Given the description of an element on the screen output the (x, y) to click on. 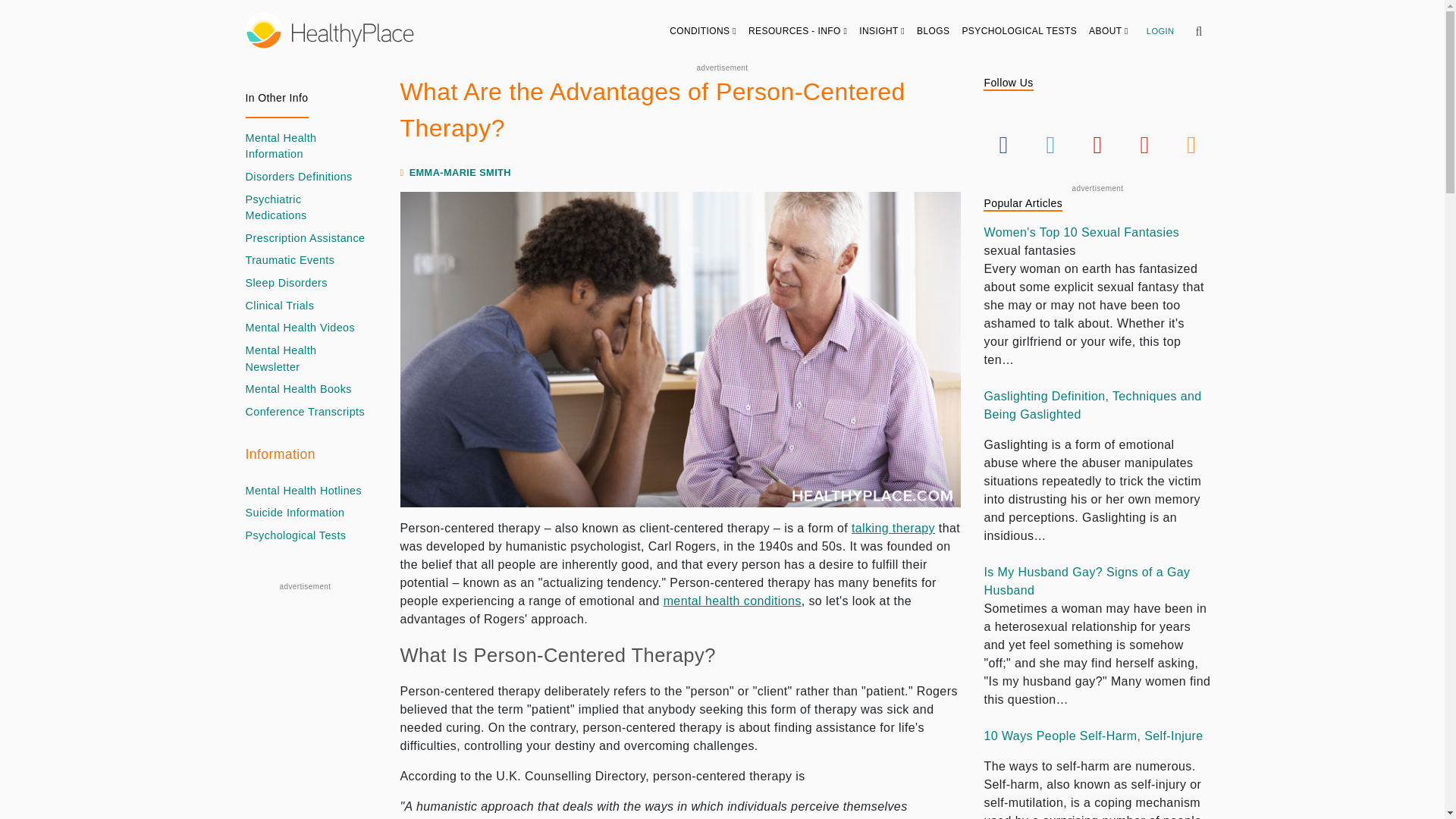
Adult Symptoms of Mental Health Disorders (732, 600)
Learn about All Mental Health Disorders (299, 176)
Mental Health Hotline Numbers and Referral Resources (304, 491)
INSIGHT (882, 31)
Helpful Books on Mental Health (299, 389)
Weekly HealthyPlace Mental Health Newsletter (305, 359)
Talking Treatments for Mental Health (892, 527)
Watch Mental Health Videos (300, 328)
RESOURCES - INFO (797, 31)
